Given the description of an element on the screen output the (x, y) to click on. 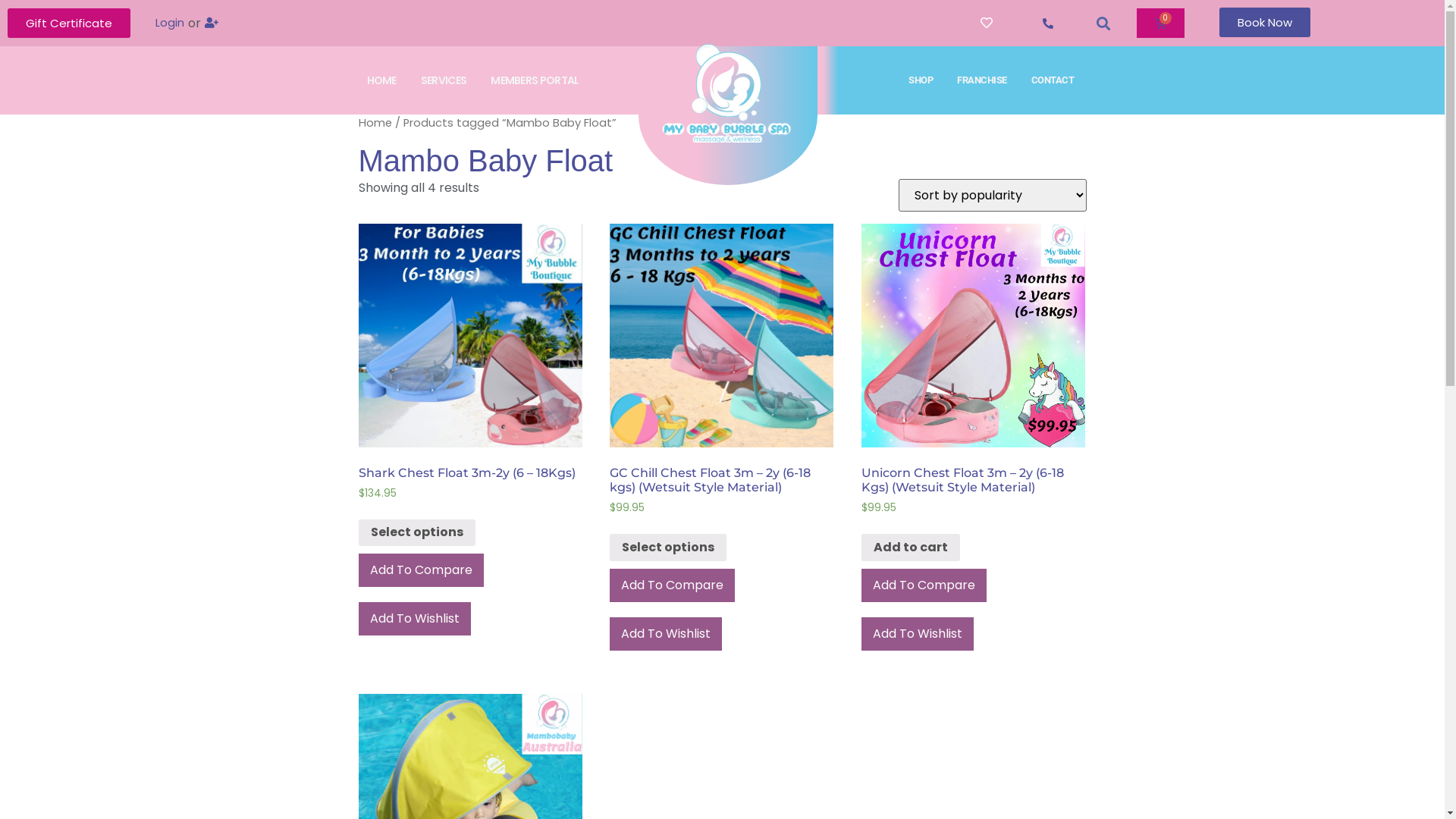
Select options Element type: text (415, 532)
Add To Compare Element type: text (420, 569)
HOME Element type: text (381, 80)
CONTACT Element type: text (1052, 80)
Add To Compare Element type: text (671, 585)
Add To Compare Element type: text (923, 585)
MEMBERS PORTAL Element type: text (534, 80)
Add To Wishlist Element type: text (413, 618)
Gift Certificate Element type: text (68, 22)
Book Now Element type: text (1264, 22)
Login Element type: text (169, 23)
Add To Wishlist Element type: text (665, 633)
Select options Element type: text (667, 547)
Add to cart Element type: text (910, 547)
SHOP Element type: text (920, 80)
Add To Wishlist Element type: text (917, 633)
FRANCHISE Element type: text (981, 80)
Home Element type: text (374, 122)
SERVICES Element type: text (443, 80)
